Given the description of an element on the screen output the (x, y) to click on. 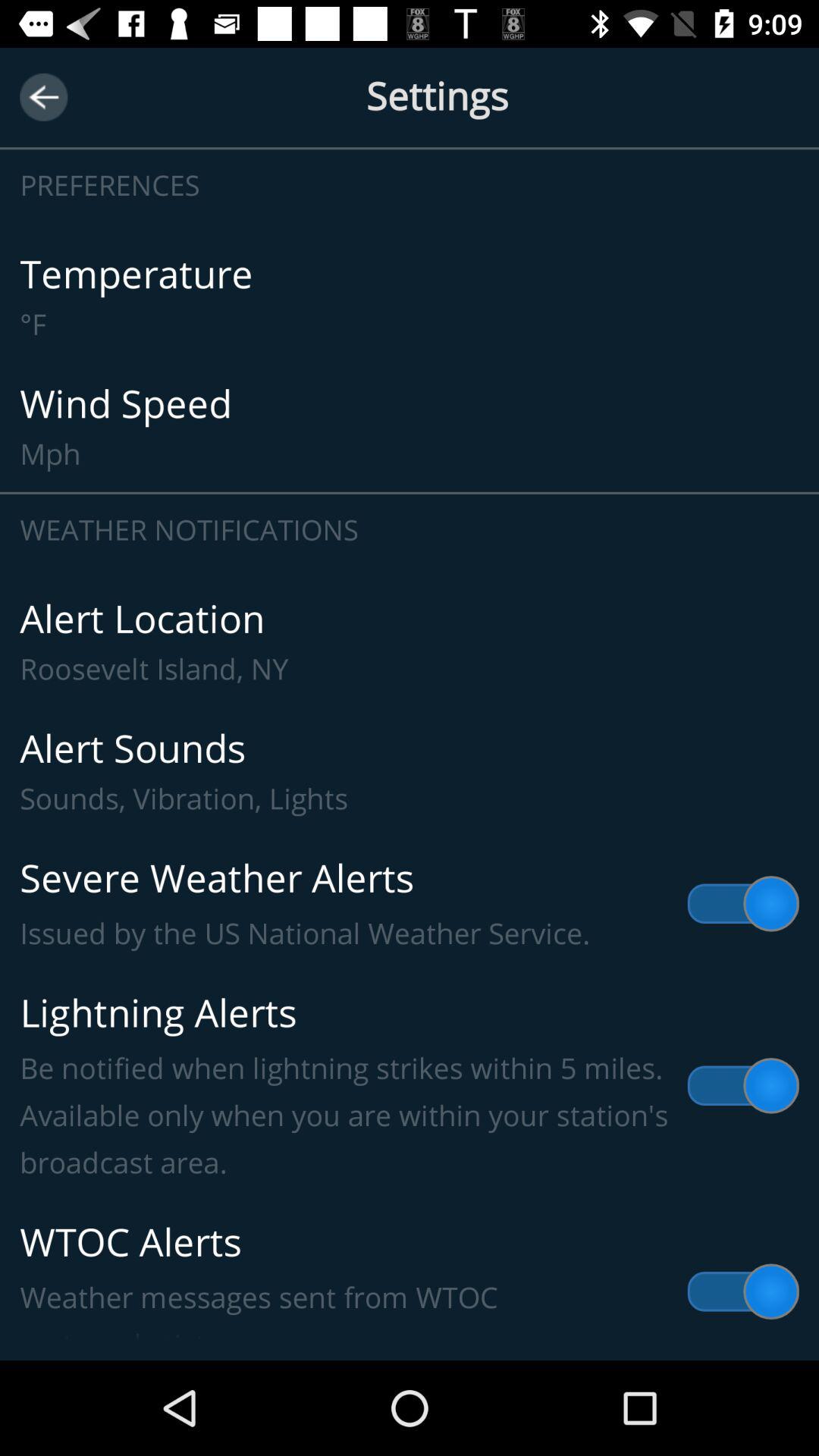
jump until alert location roosevelt item (409, 641)
